Given the description of an element on the screen output the (x, y) to click on. 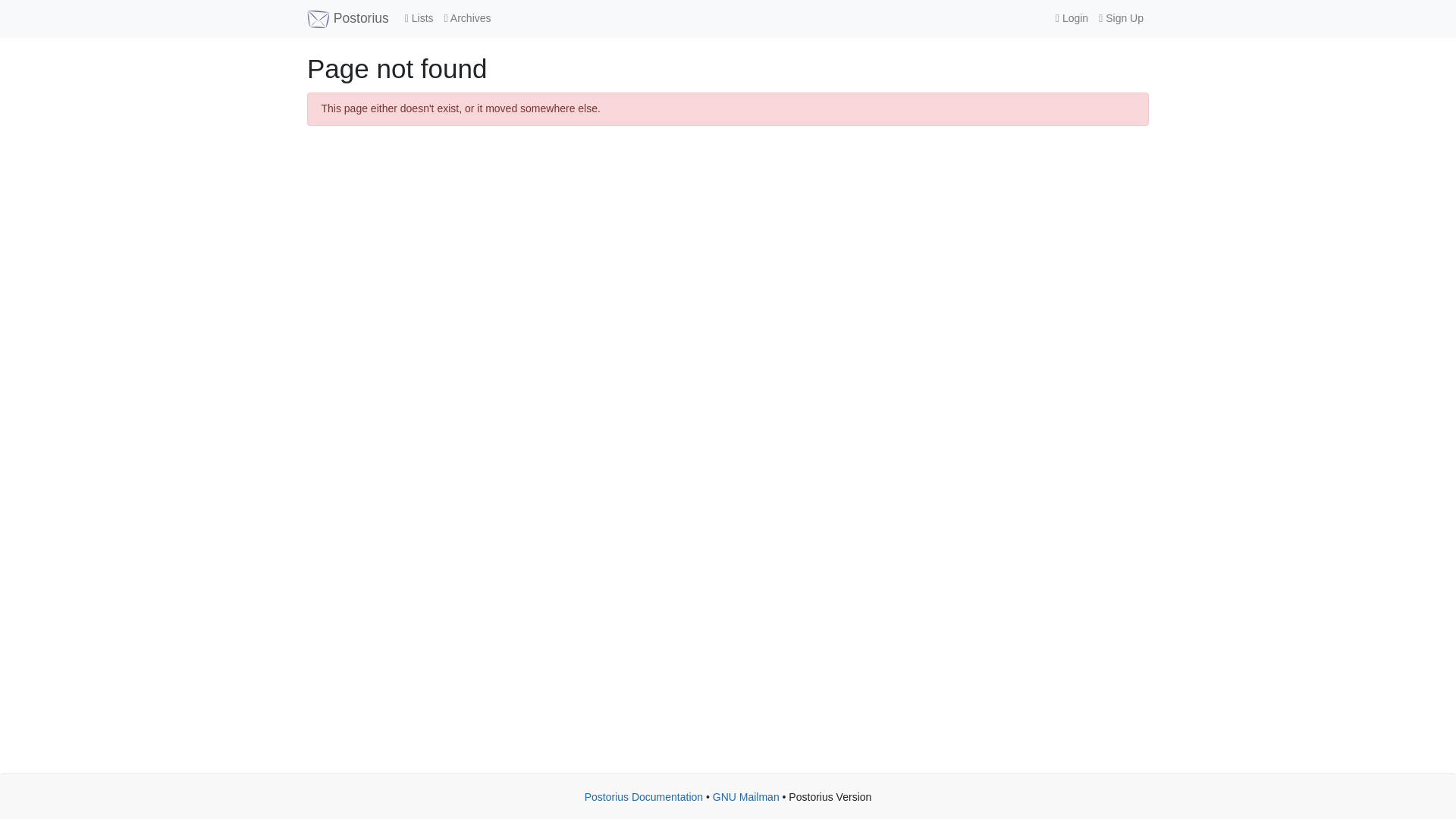
Lists (418, 17)
Archives (467, 17)
Postorius (347, 18)
Sign Up (1120, 17)
Login (1071, 17)
